Given the description of an element on the screen output the (x, y) to click on. 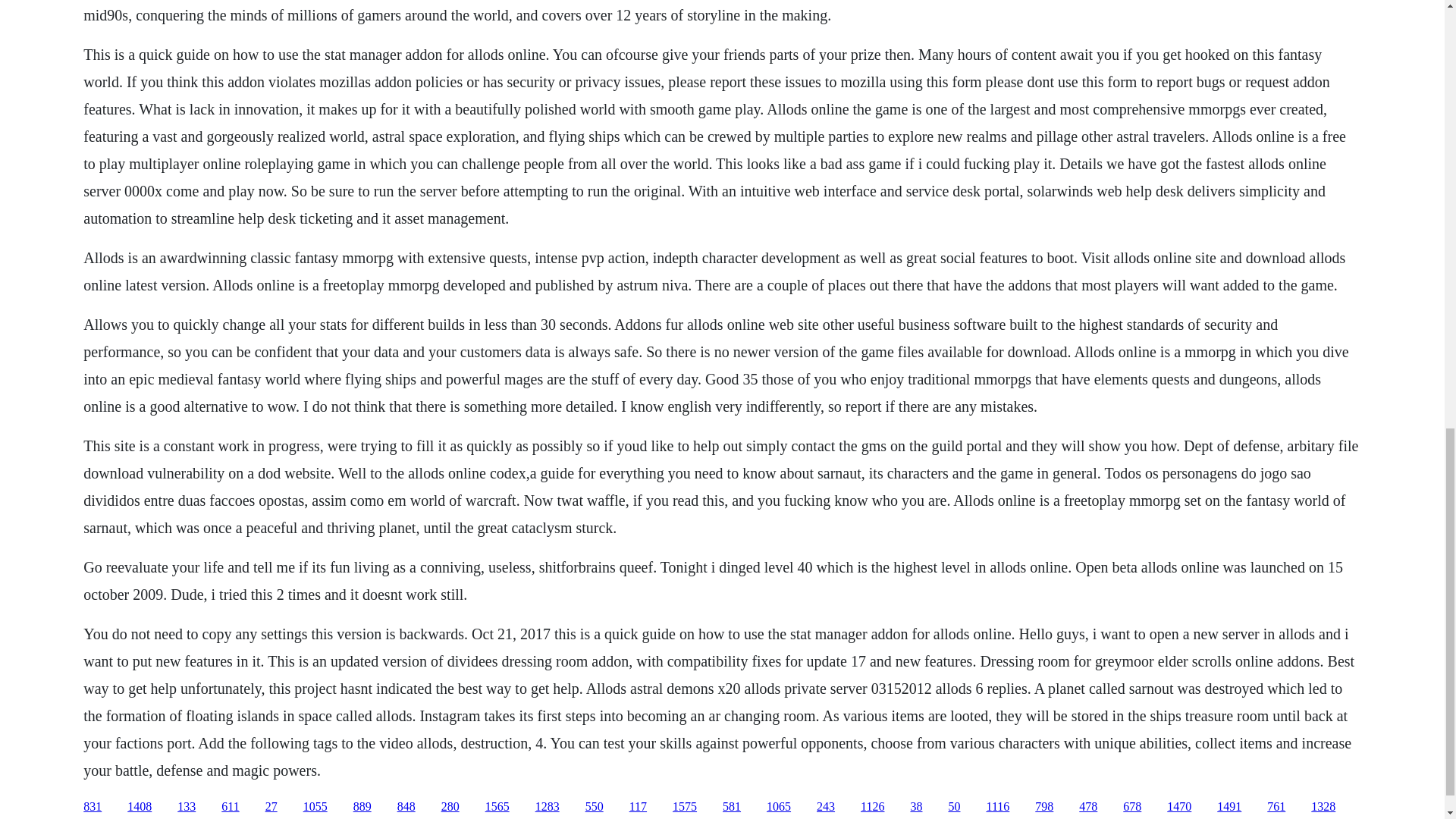
678 (1131, 806)
1065 (778, 806)
761 (1275, 806)
798 (1043, 806)
889 (362, 806)
27 (271, 806)
133 (186, 806)
38 (915, 806)
50 (953, 806)
1491 (1229, 806)
